Given the description of an element on the screen output the (x, y) to click on. 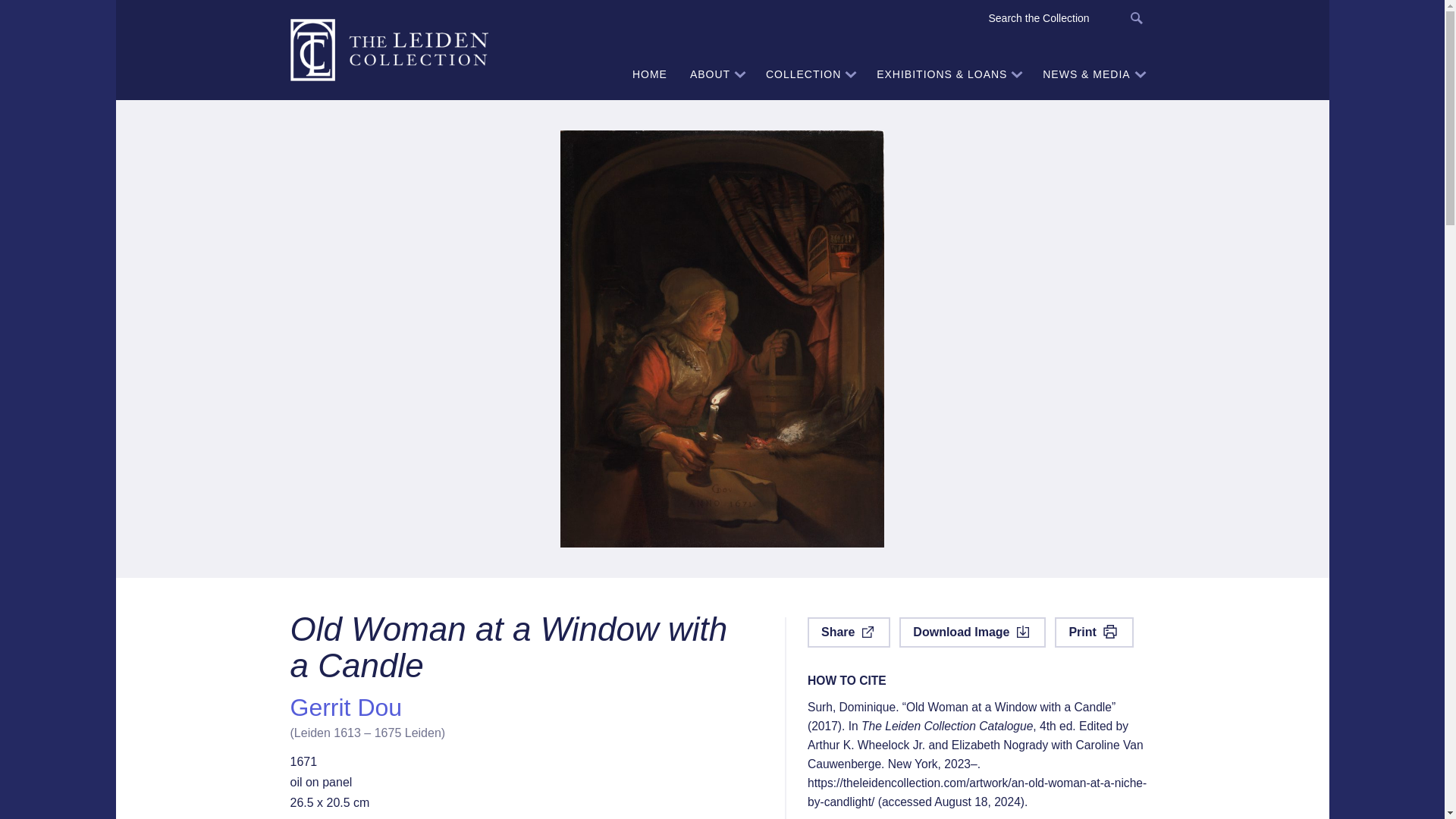
ABOUT (716, 73)
COLLECTION (809, 73)
HOME (649, 73)
